Given the description of an element on the screen output the (x, y) to click on. 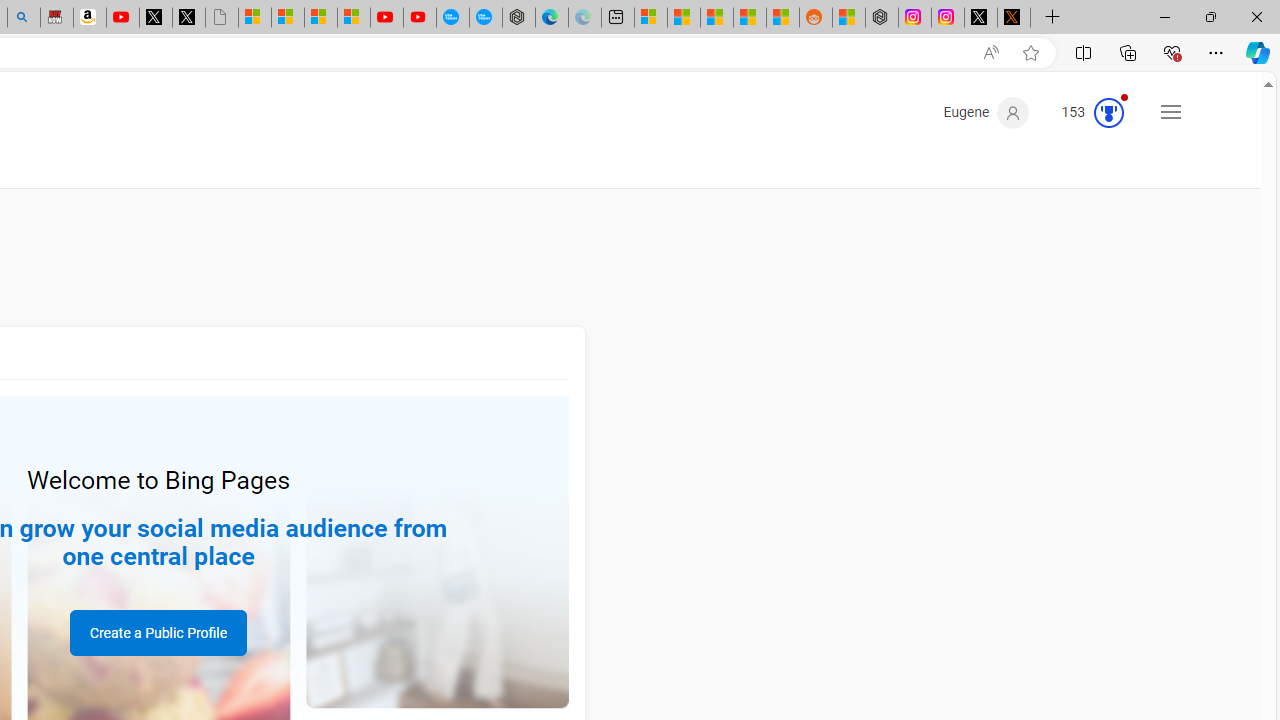
help.x.com | 524: A timeout occurred (1014, 17)
Eugene (986, 112)
Log in to X / X (981, 17)
YouTube Kids - An App Created for Kids to Explore Content (420, 17)
Settings and quick links (1170, 111)
Microsoft Rewards 153 (1084, 112)
